Given the description of an element on the screen output the (x, y) to click on. 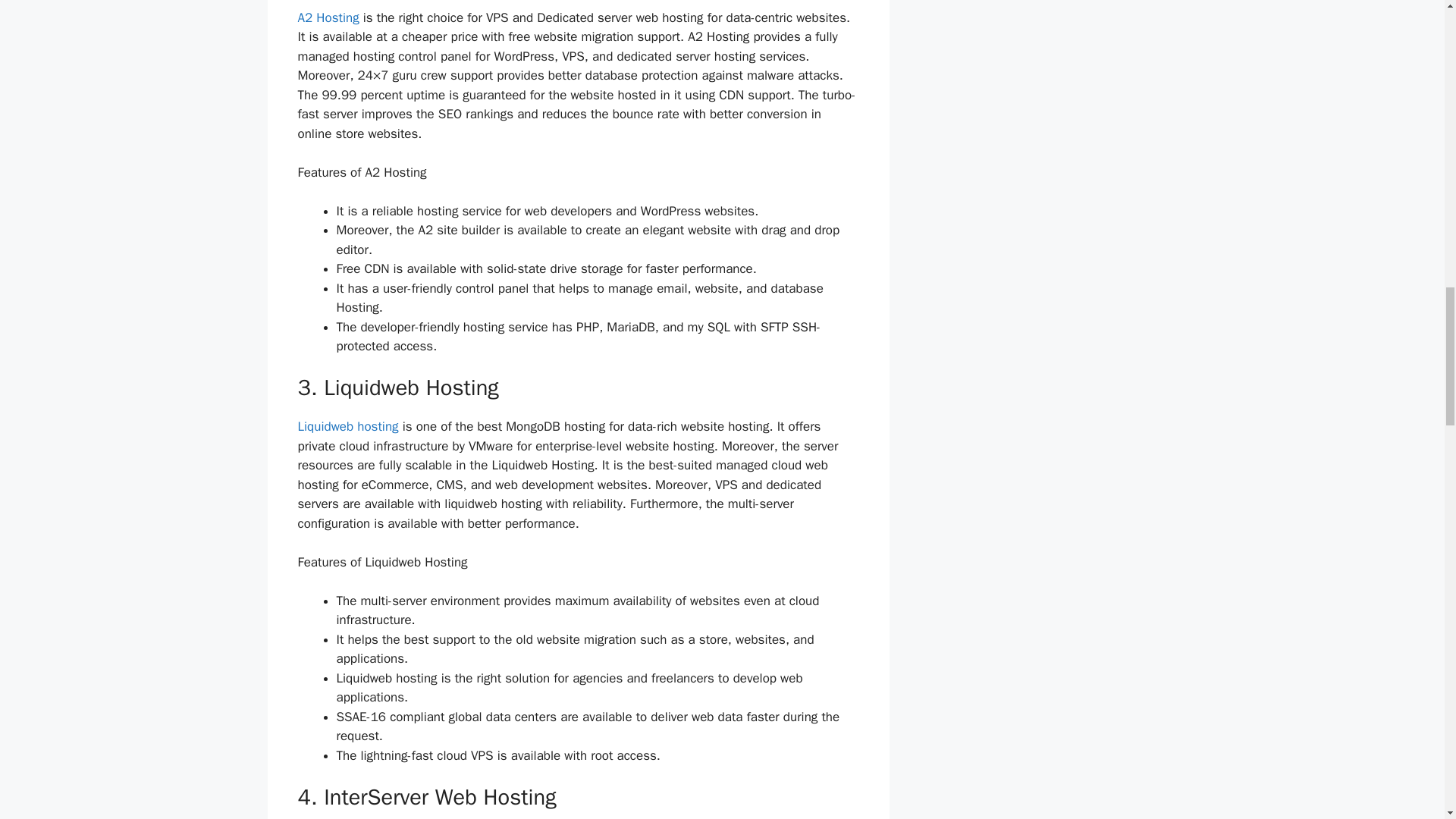
A2 Hosting (327, 17)
Liquidweb hosting (347, 426)
